Given the description of an element on the screen output the (x, y) to click on. 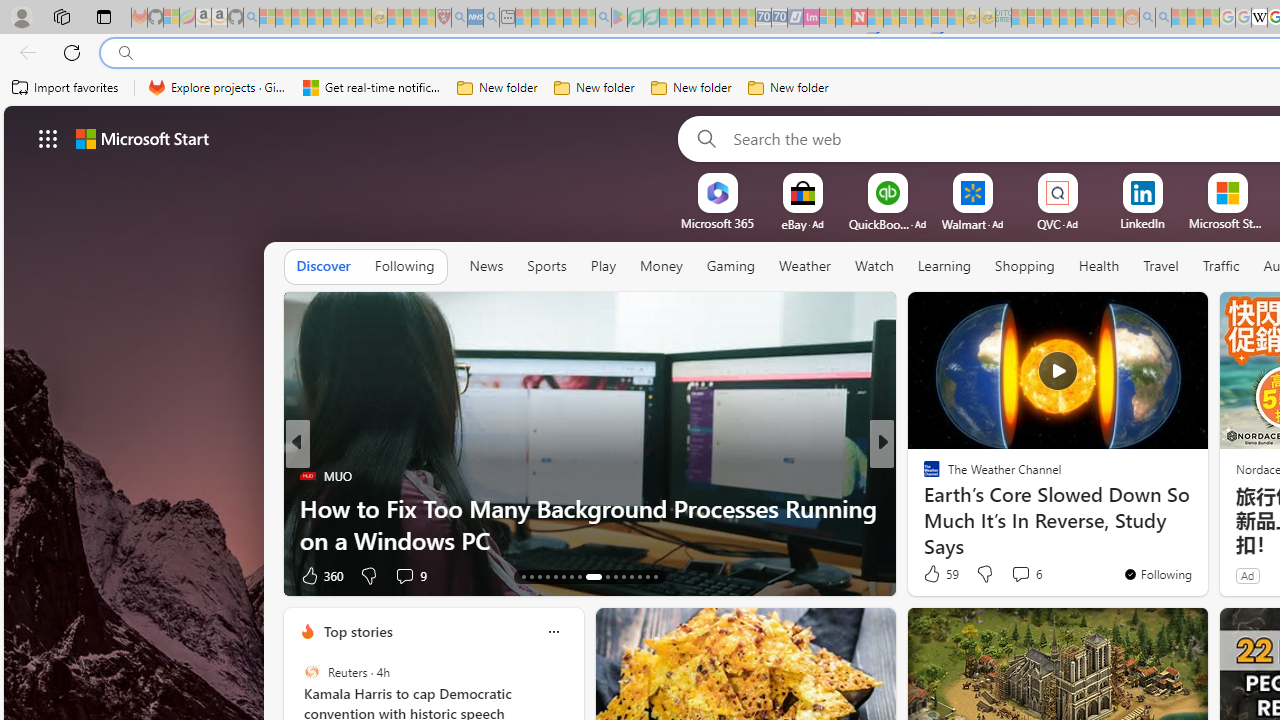
AutomationID: tab-15 (539, 576)
The Weather Channel - MSN - Sleeping (299, 17)
AutomationID: tab-28 (655, 576)
97 Like (934, 574)
AutomationID: tab-26 (638, 576)
Sports (546, 265)
Money (661, 267)
XDA Developers (923, 475)
